Given the description of an element on the screen output the (x, y) to click on. 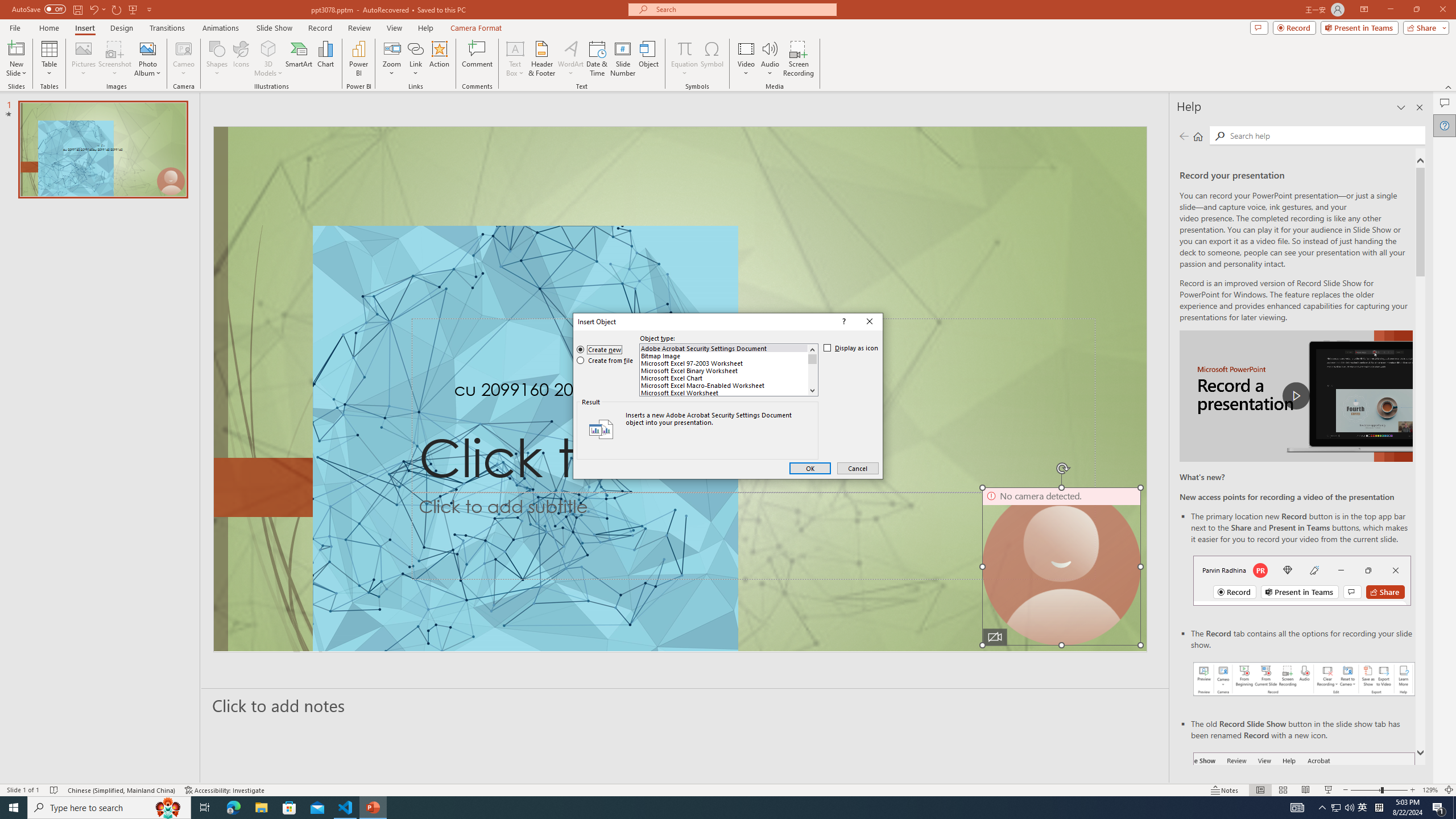
Table (49, 58)
Microsoft Excel Chart (724, 377)
Record your presentations screenshot one (1304, 678)
Audio (769, 58)
Camera 9, No camera detected. (1061, 566)
